Given the description of an element on the screen output the (x, y) to click on. 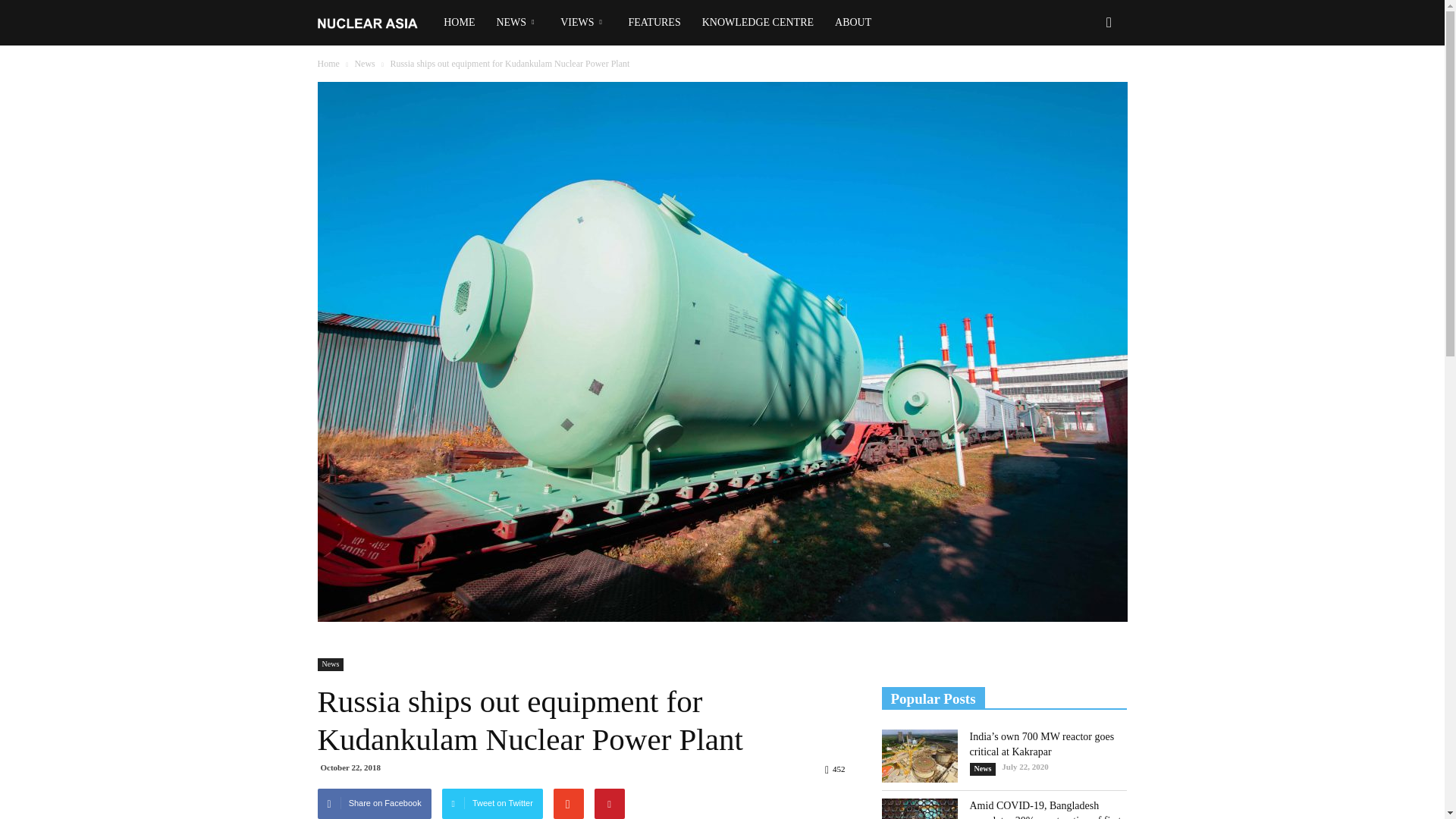
Nuclear Asia (374, 22)
VIEWS (583, 22)
HOME (458, 22)
NEWS (517, 22)
